Given the description of an element on the screen output the (x, y) to click on. 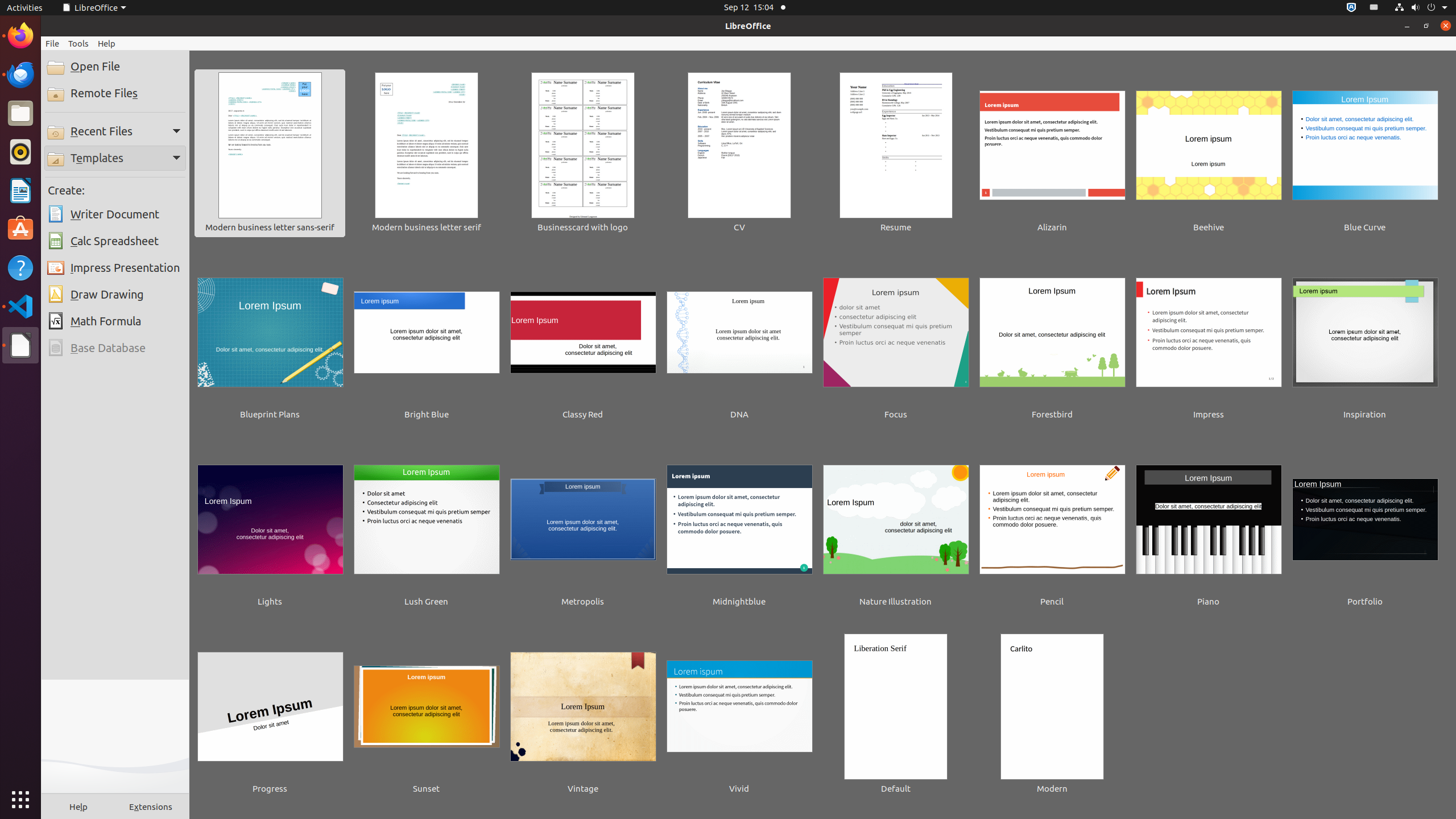
Templates Element type: push-button (114, 157)
Sunset Element type: list-item (426, 714)
Blue Curve Element type: list-item (1364, 153)
Beehive Element type: list-item (1208, 153)
Recent Files Element type: push-button (114, 130)
